Given the description of an element on the screen output the (x, y) to click on. 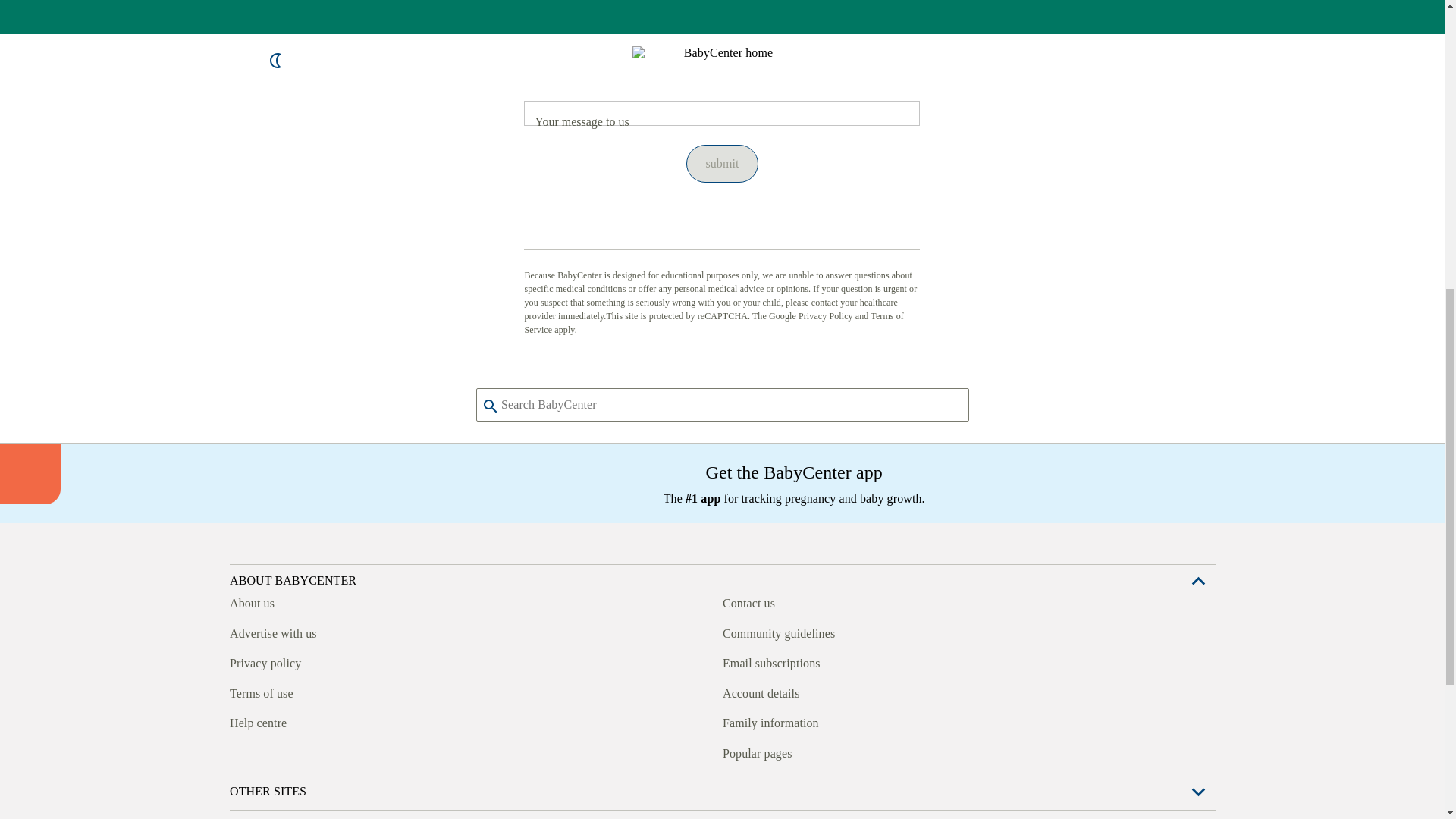
Name (722, 15)
Your message to us (722, 113)
Email address (722, 65)
